Given the description of an element on the screen output the (x, y) to click on. 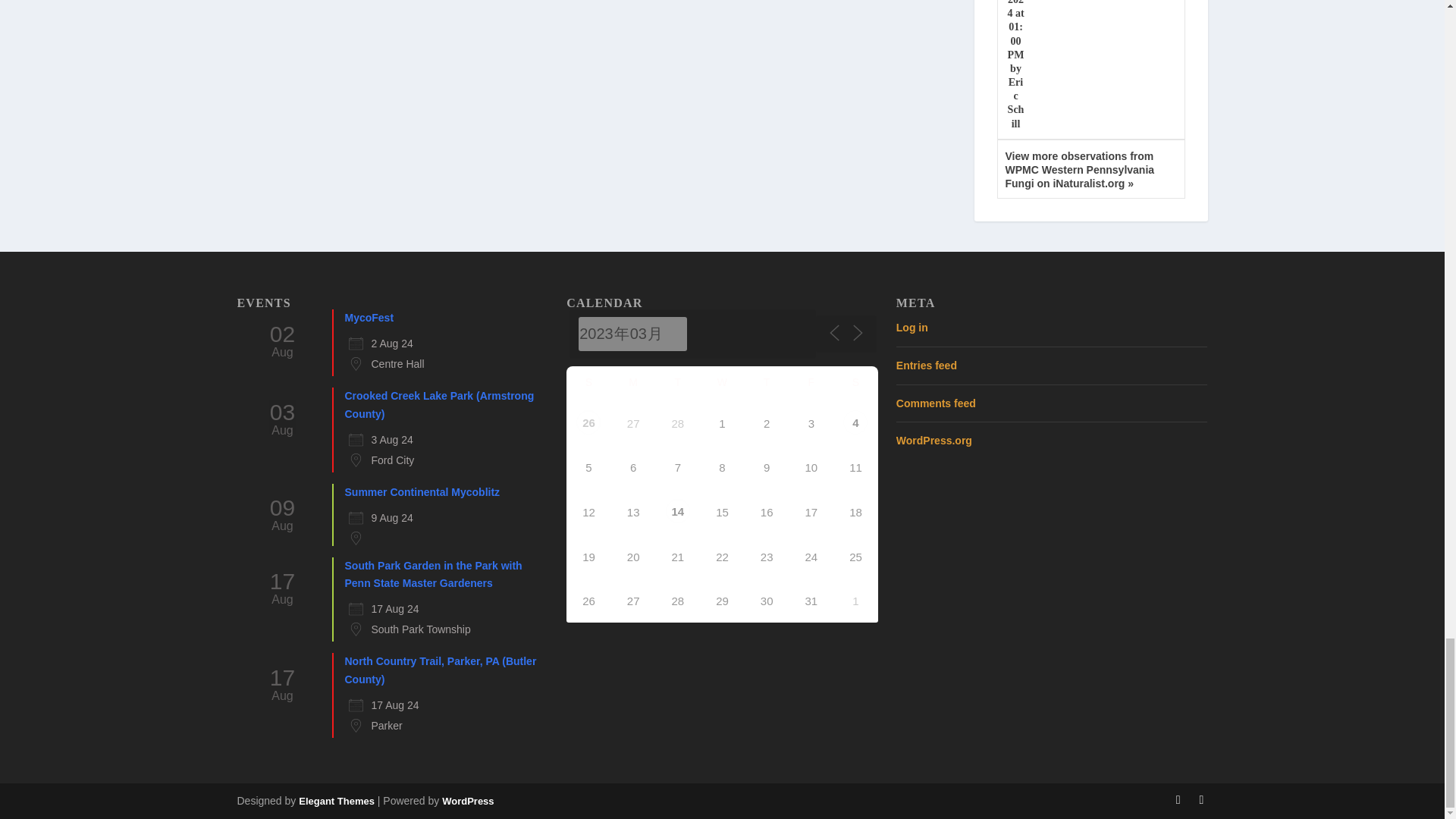
Premium WordPress Themes (336, 800)
Monthly Meeting (677, 510)
2023-03 (632, 333)
